Given the description of an element on the screen output the (x, y) to click on. 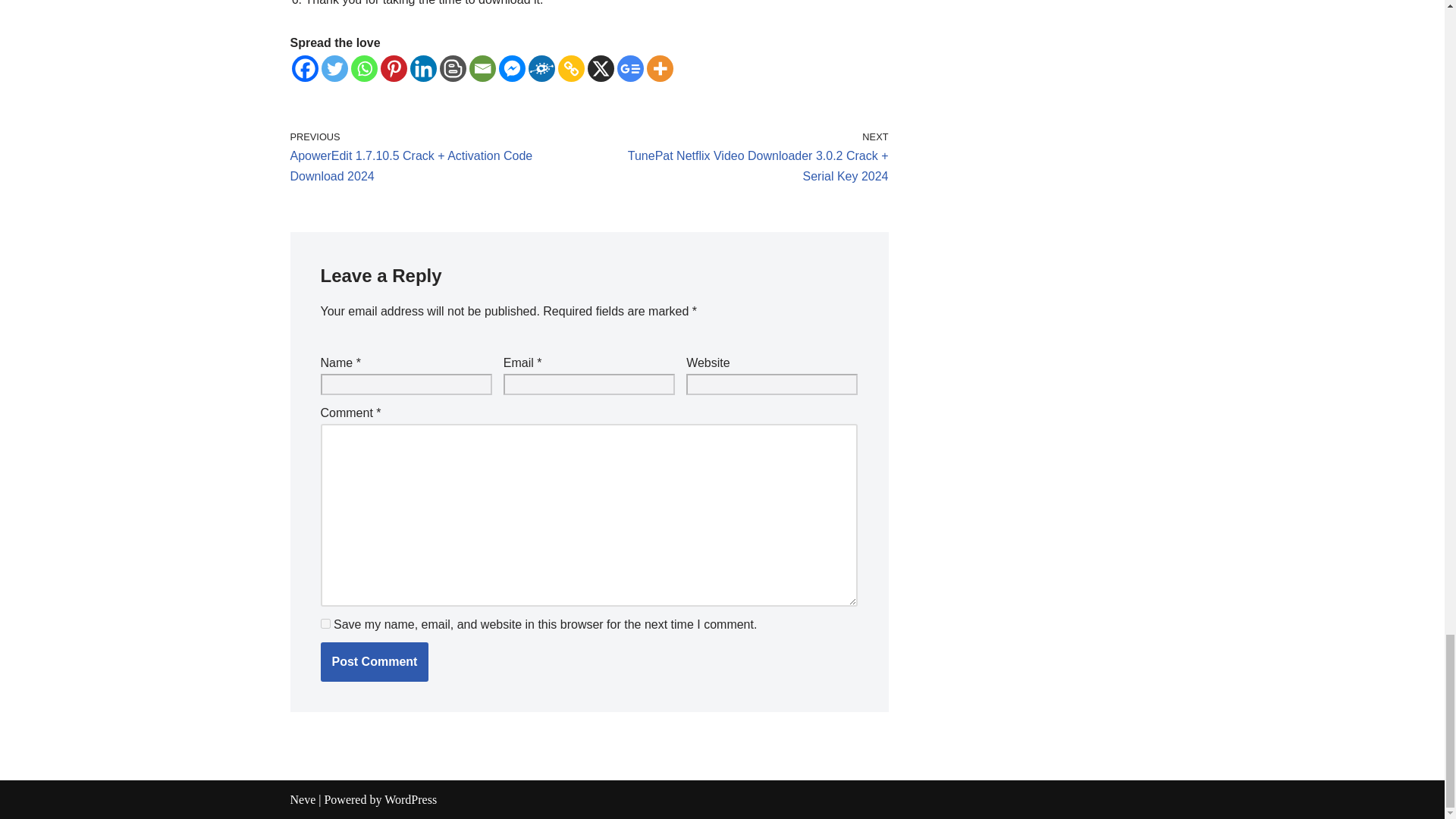
Email (481, 68)
yes (325, 623)
Pinterest (393, 68)
Facebook (304, 68)
Blogger Post (452, 68)
Post Comment (374, 661)
Whatsapp (363, 68)
Folkd (540, 68)
X (599, 68)
Twitter (334, 68)
Copy Link (571, 68)
Linkedin (422, 68)
